Given the description of an element on the screen output the (x, y) to click on. 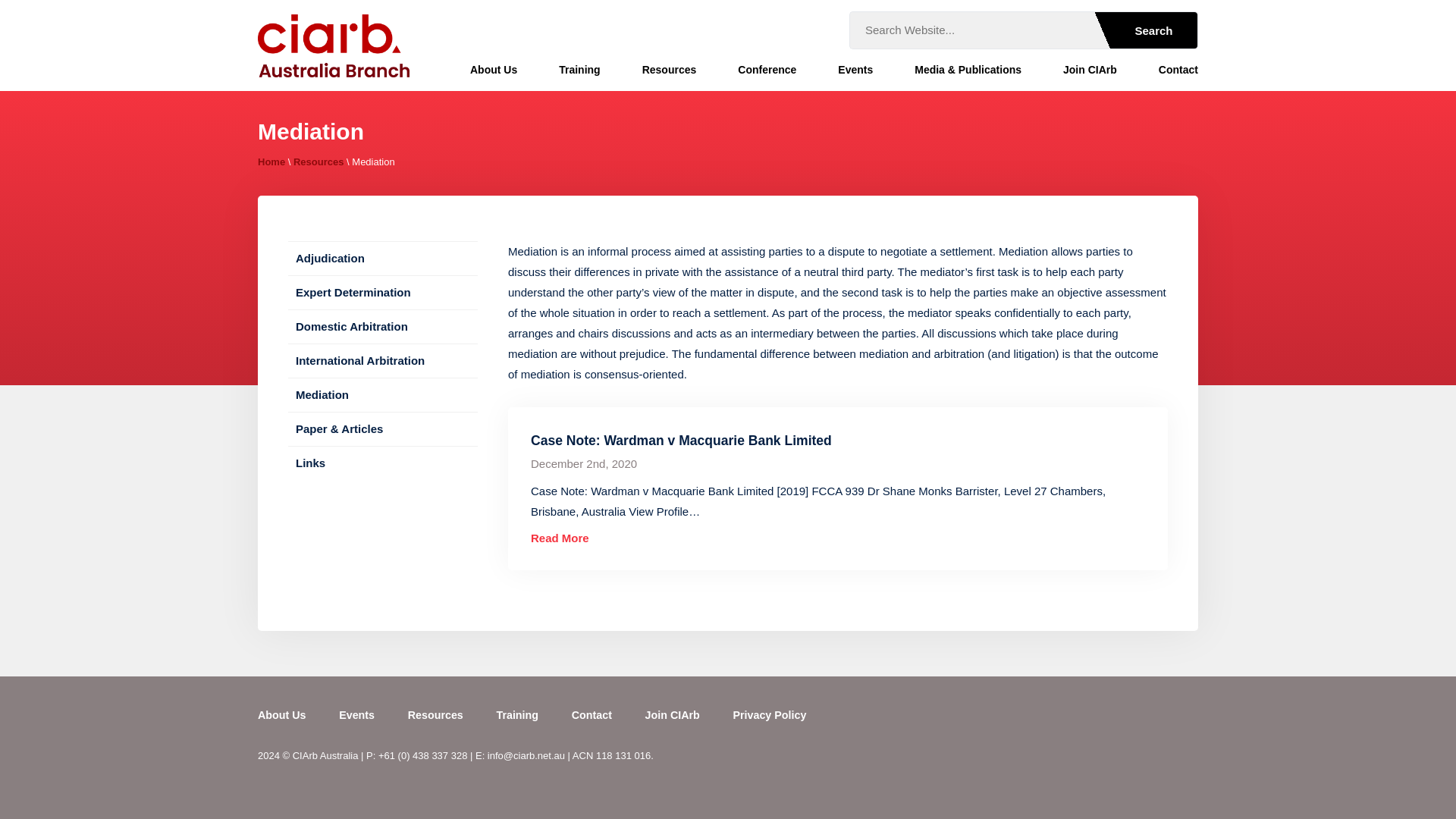
Search (1141, 30)
Training (579, 69)
About Us (493, 69)
Resources (669, 69)
Chartered Institute of Arbitrators Australia (333, 45)
Conference (767, 69)
Search (1141, 30)
